Given the description of an element on the screen output the (x, y) to click on. 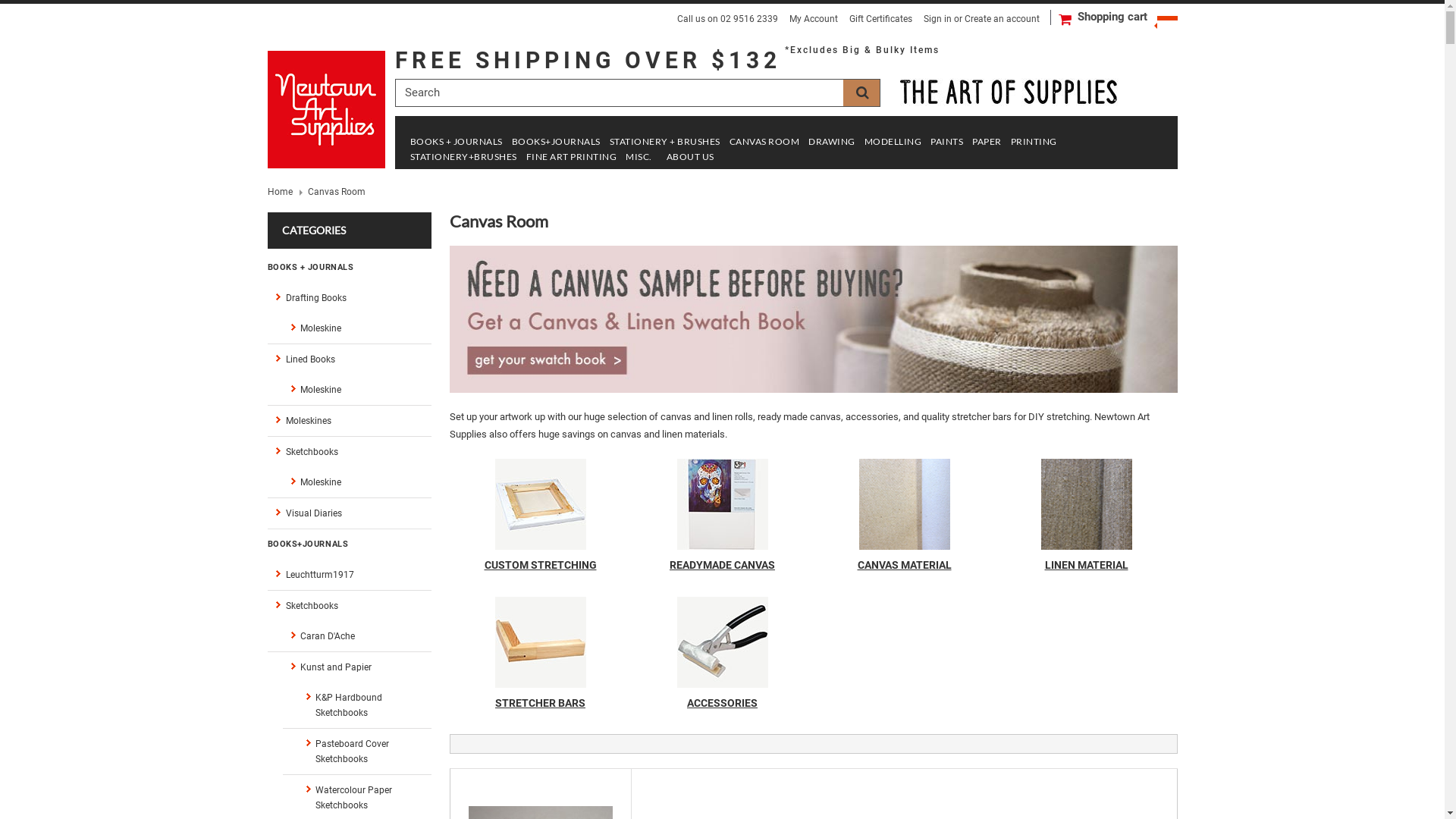
MODELLING Element type: text (893, 142)
STRETCHER BARS Element type: text (540, 699)
Sketchbooks Element type: text (348, 451)
Home Element type: text (283, 190)
READYMADE CANVAS Element type: text (722, 561)
BOOKS + JOURNALS Element type: text (455, 142)
MISC. Element type: text (638, 157)
STATIONERY + BRUSHES Element type: text (664, 142)
Drafting Books Element type: text (348, 297)
Sketchbooks Element type: text (348, 604)
CANVAS MATERIAL Element type: text (904, 561)
Visual Diaries Element type: text (348, 512)
PAINTS Element type: text (946, 142)
Leuchtturm1917 Element type: text (348, 574)
Shopping cart Element type: text (1126, 16)
BOOKS+JOURNALS Element type: text (348, 544)
Moleskine Element type: text (356, 482)
swatch-book.jpg Element type: hover (812, 318)
Create an account Element type: text (1001, 18)
ACCESSORIES Element type: text (722, 699)
ABOUT US Element type: text (689, 157)
My Account Element type: text (812, 18)
Moleskines Element type: text (348, 419)
Caran D'Ache Element type: text (356, 635)
LINEN MATERIAL Element type: text (1086, 561)
STATIONERY+BRUSHES Element type: text (462, 157)
BOOKS + JOURNALS Element type: text (348, 266)
K&P Hardbound Sketchbooks Element type: text (363, 705)
Moleskine Element type: text (356, 389)
Sign in Element type: text (937, 18)
PAPER Element type: text (986, 142)
Gift Certificates Element type: text (880, 18)
Lined Books Element type: text (348, 359)
Moleskine Element type: text (356, 327)
Kunst and Papier Element type: text (356, 667)
PRINTING Element type: text (1033, 142)
FINE ART PRINTING Element type: text (571, 157)
Search Element type: hover (861, 91)
CANVAS ROOM Element type: text (764, 142)
CUSTOM STRETCHING Element type: text (540, 561)
BOOKS+JOURNALS Element type: text (555, 142)
DRAWING Element type: text (831, 142)
Pasteboard Cover Sketchbooks Element type: text (363, 750)
FREE SHIPPING OVER $132 *Excludes Big & Bulky Items Element type: text (666, 60)
